Given the description of an element on the screen output the (x, y) to click on. 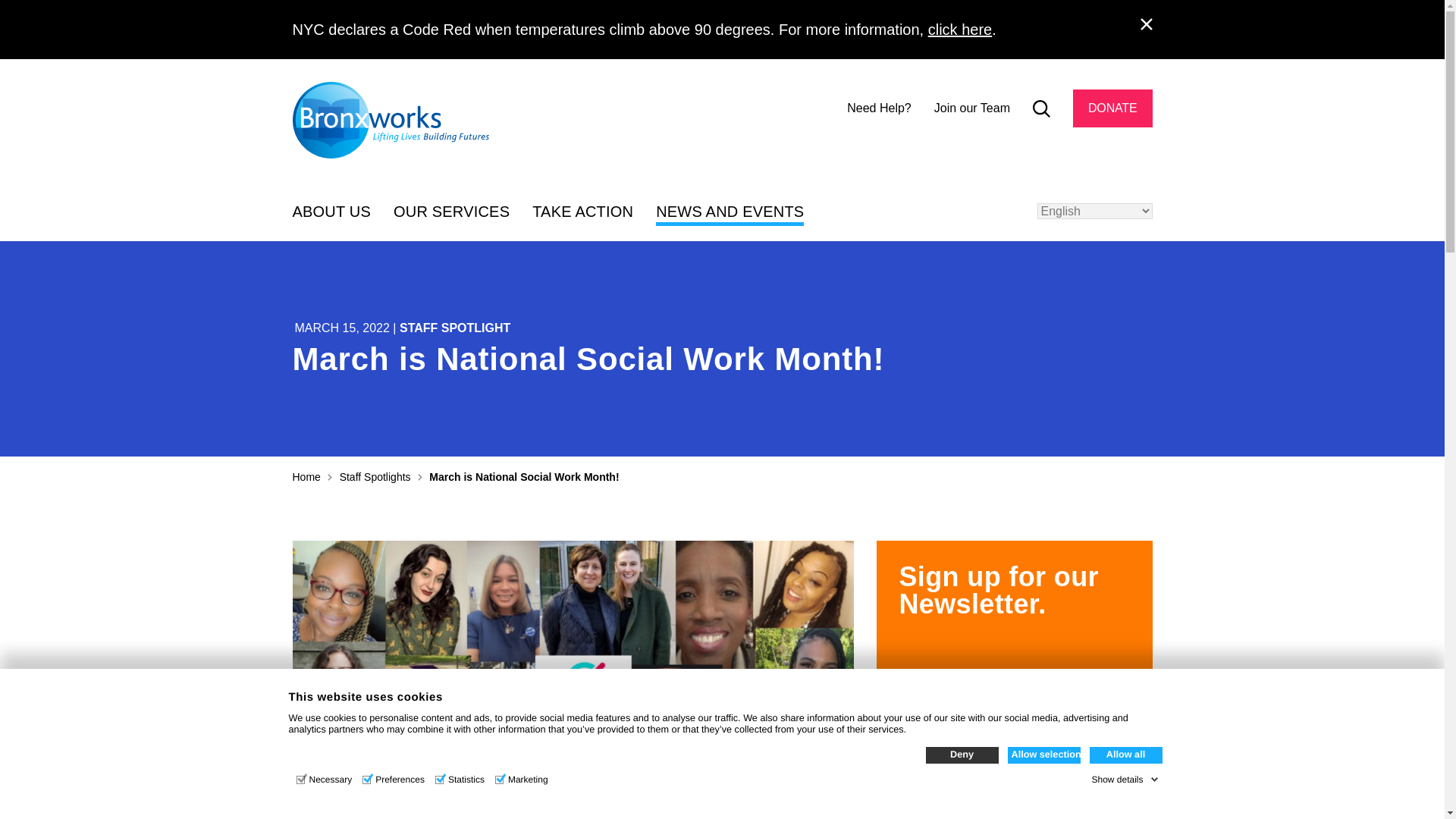
Show details (1123, 779)
Allow selection (1043, 754)
Submit (1121, 152)
Deny (960, 754)
Allow all (1125, 754)
Submit (1121, 152)
